Given the description of an element on the screen output the (x, y) to click on. 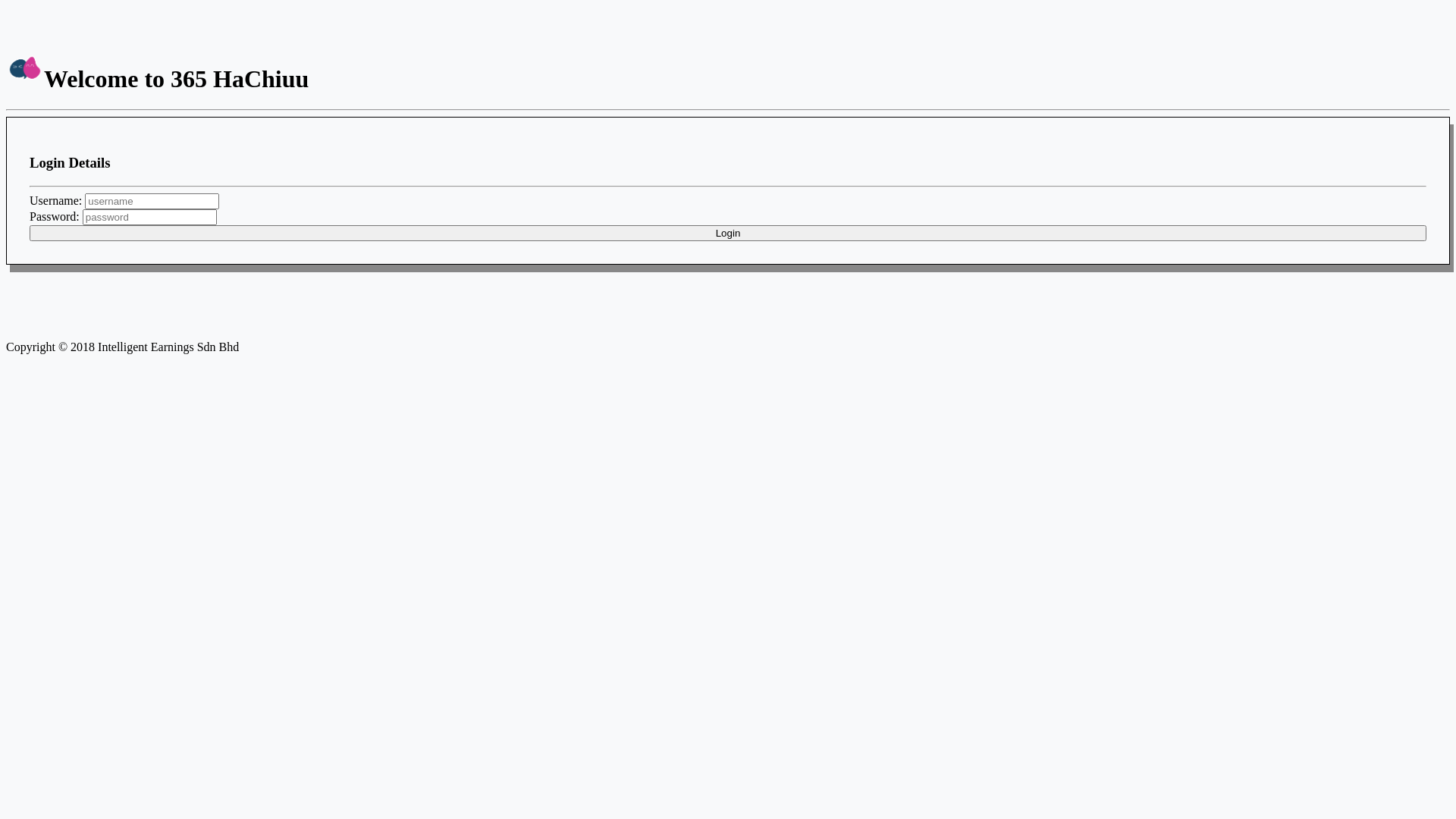
Login Element type: text (727, 233)
